Given the description of an element on the screen output the (x, y) to click on. 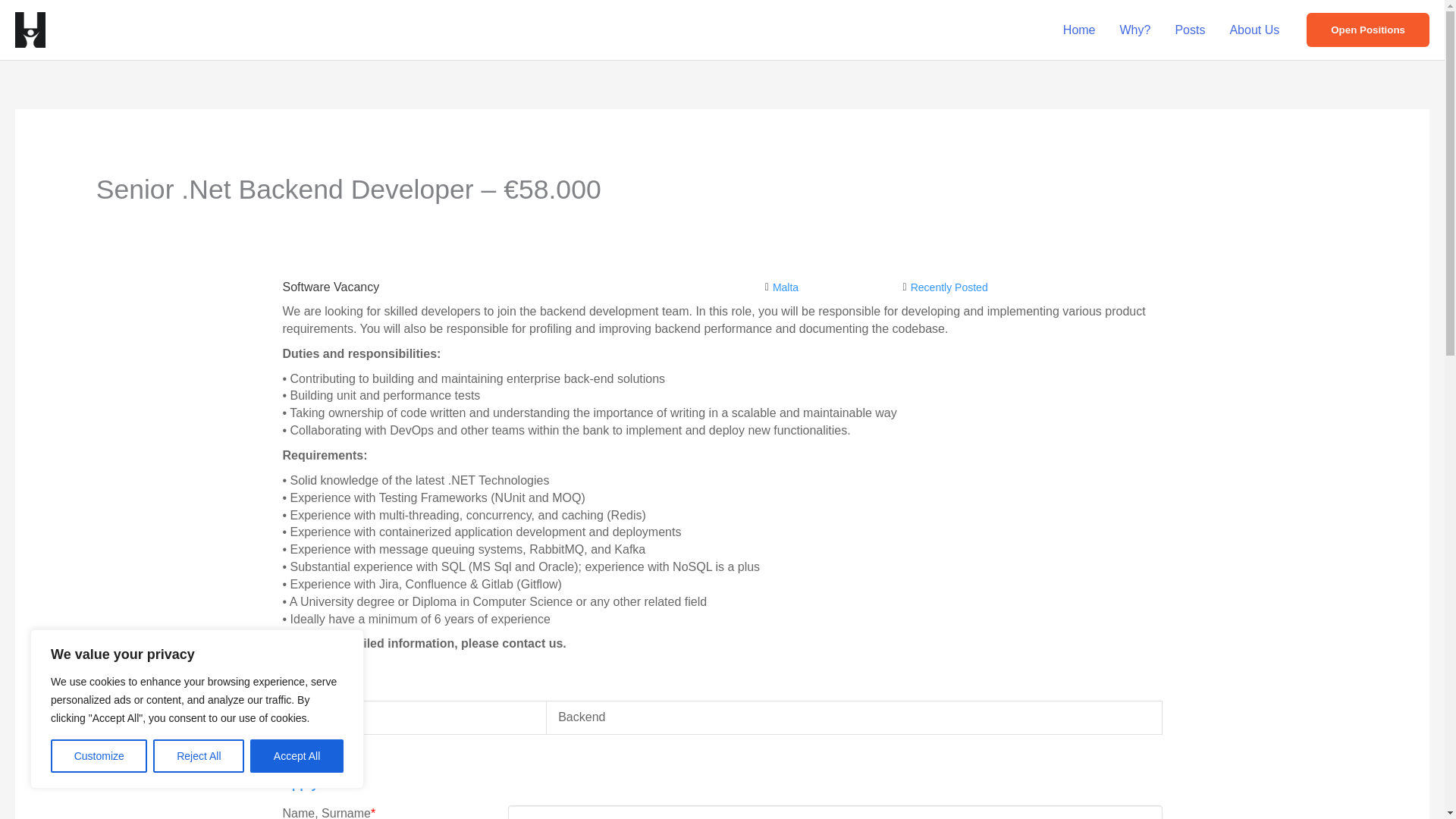
Posts (1189, 29)
Open Positions (1367, 29)
Home (1079, 29)
Accept All (296, 756)
Customize (98, 756)
About Us (1254, 29)
Reject All (198, 756)
Why? (1135, 29)
